Given the description of an element on the screen output the (x, y) to click on. 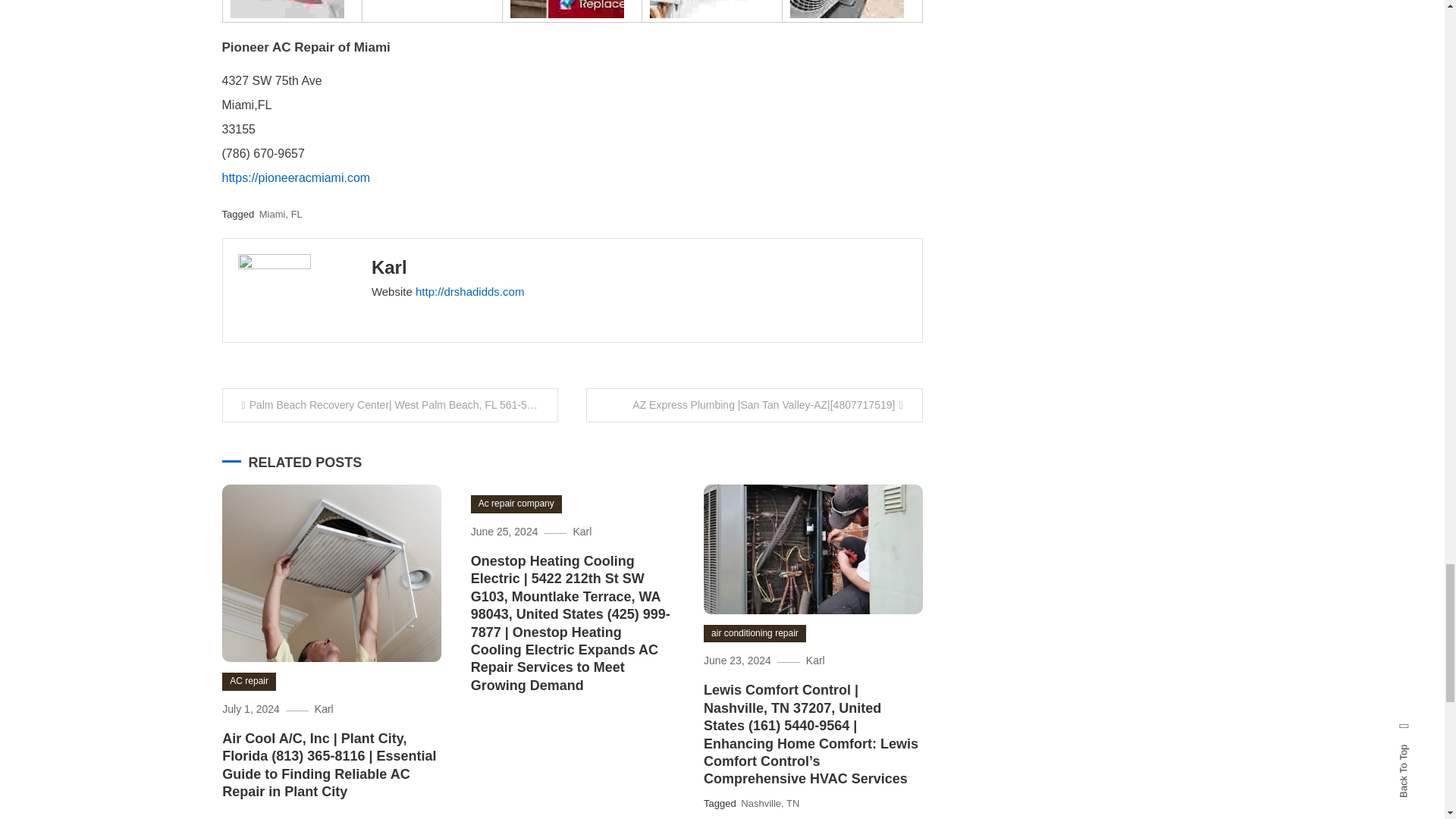
Posts by Karl (389, 267)
